Given the description of an element on the screen output the (x, y) to click on. 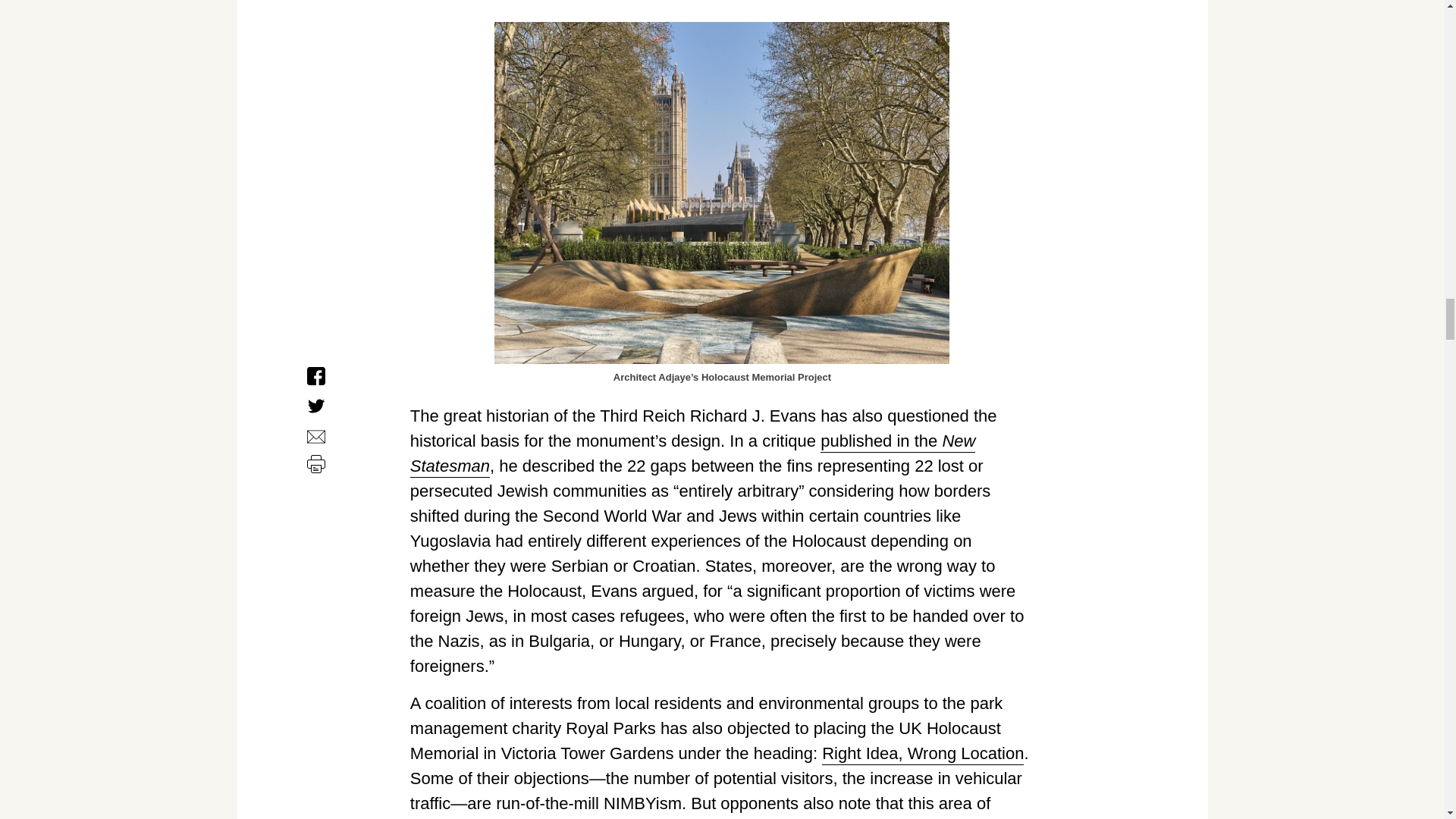
Right Idea, Wrong Location (922, 753)
published in the New Statesman (692, 453)
